Given the description of an element on the screen output the (x, y) to click on. 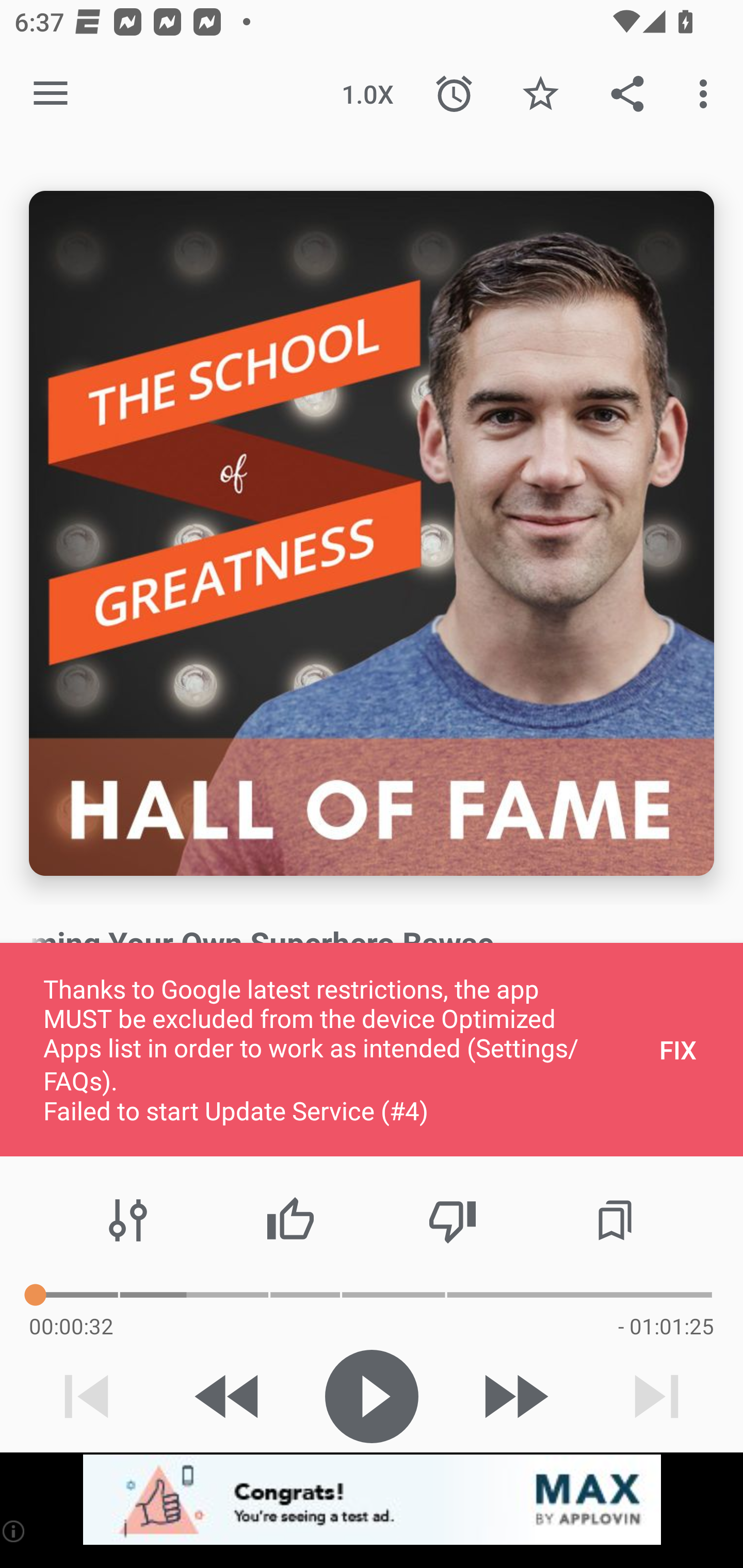
Open navigation sidebar (50, 93)
1.0X (366, 93)
Sleep Timer (453, 93)
Favorite (540, 93)
Share (626, 93)
More options (706, 93)
Episode description (371, 533)
FIX (677, 1049)
Audio effects (127, 1220)
Thumbs up (290, 1220)
Thumbs down (452, 1220)
Chapters / Bookmarks (614, 1220)
- 01:01:25 (666, 1325)
Previous track (86, 1395)
Skip 15s backward (228, 1395)
Play / Pause (371, 1395)
Skip 30s forward (513, 1395)
Next track (656, 1395)
app-monetization (371, 1500)
(i) (14, 1531)
